Given the description of an element on the screen output the (x, y) to click on. 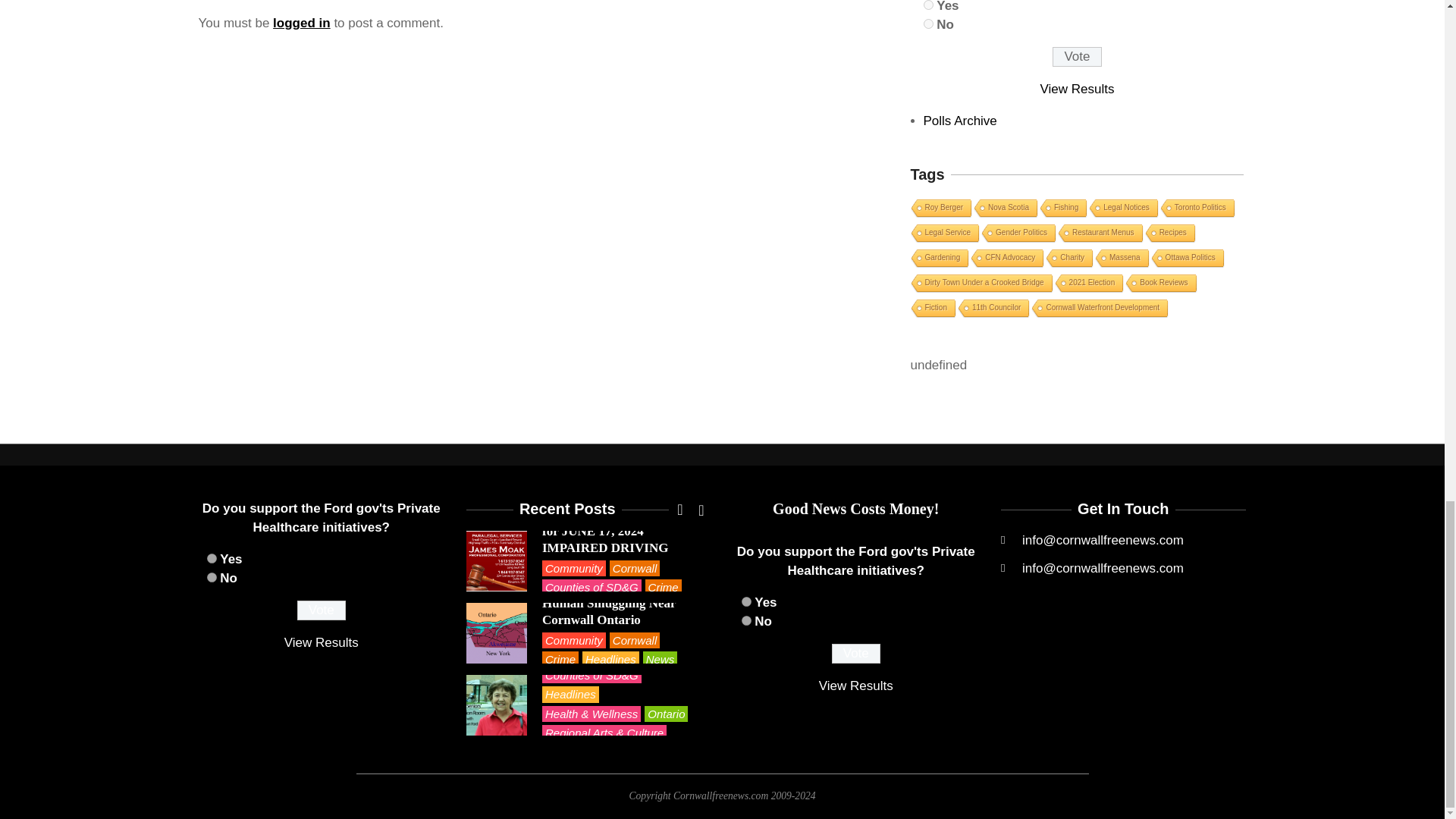
1777 (210, 577)
1777 (746, 620)
1776 (210, 558)
   Vote    (321, 609)
   Vote    (1076, 56)
1762 (928, 4)
View Results Of This Poll (855, 685)
1763 (928, 23)
   Vote    (855, 653)
View Results Of This Poll (320, 642)
